Given the description of an element on the screen output the (x, y) to click on. 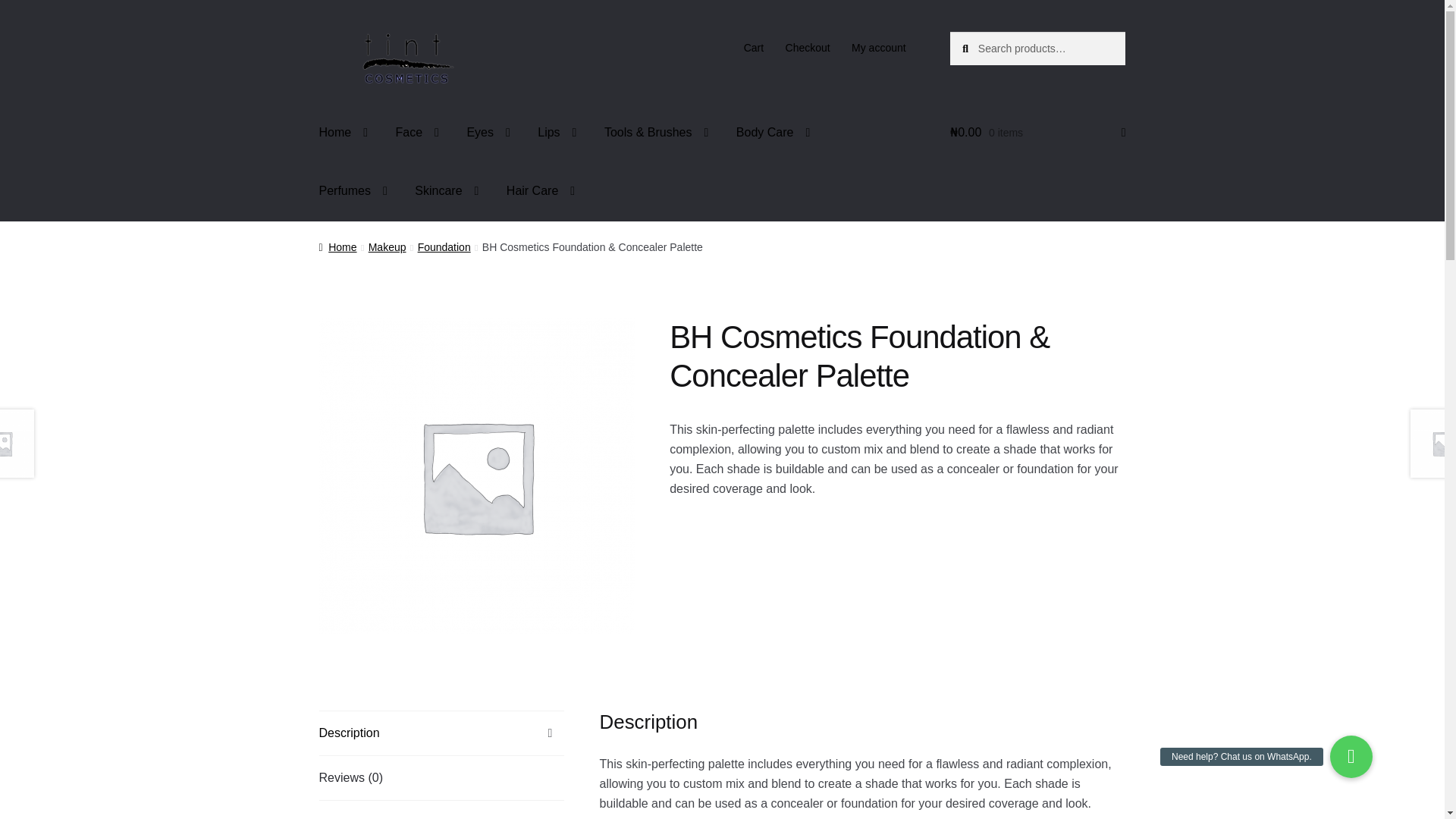
Home (343, 132)
My account (879, 47)
Checkout (808, 47)
View your shopping cart (1037, 132)
Eyes (487, 132)
Face (417, 132)
Lips (556, 132)
Cart (753, 47)
